Given the description of an element on the screen output the (x, y) to click on. 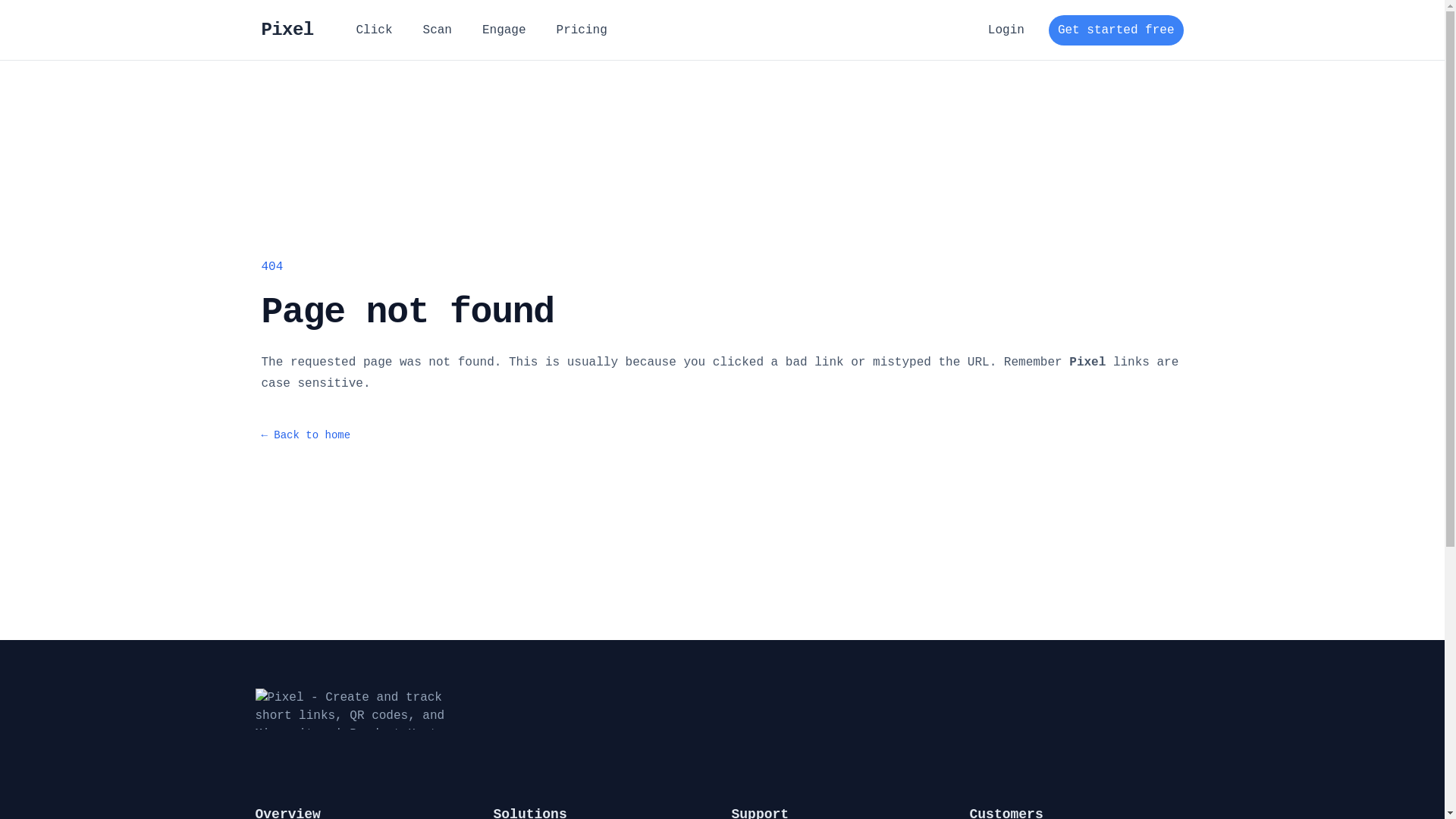
Pricing Element type: text (581, 29)
Get started free Element type: text (1115, 30)
Pixel Element type: text (286, 30)
Click Element type: text (374, 29)
Login Element type: text (1006, 29)
Scan Element type: text (437, 29)
Engage Element type: text (504, 29)
